Given the description of an element on the screen output the (x, y) to click on. 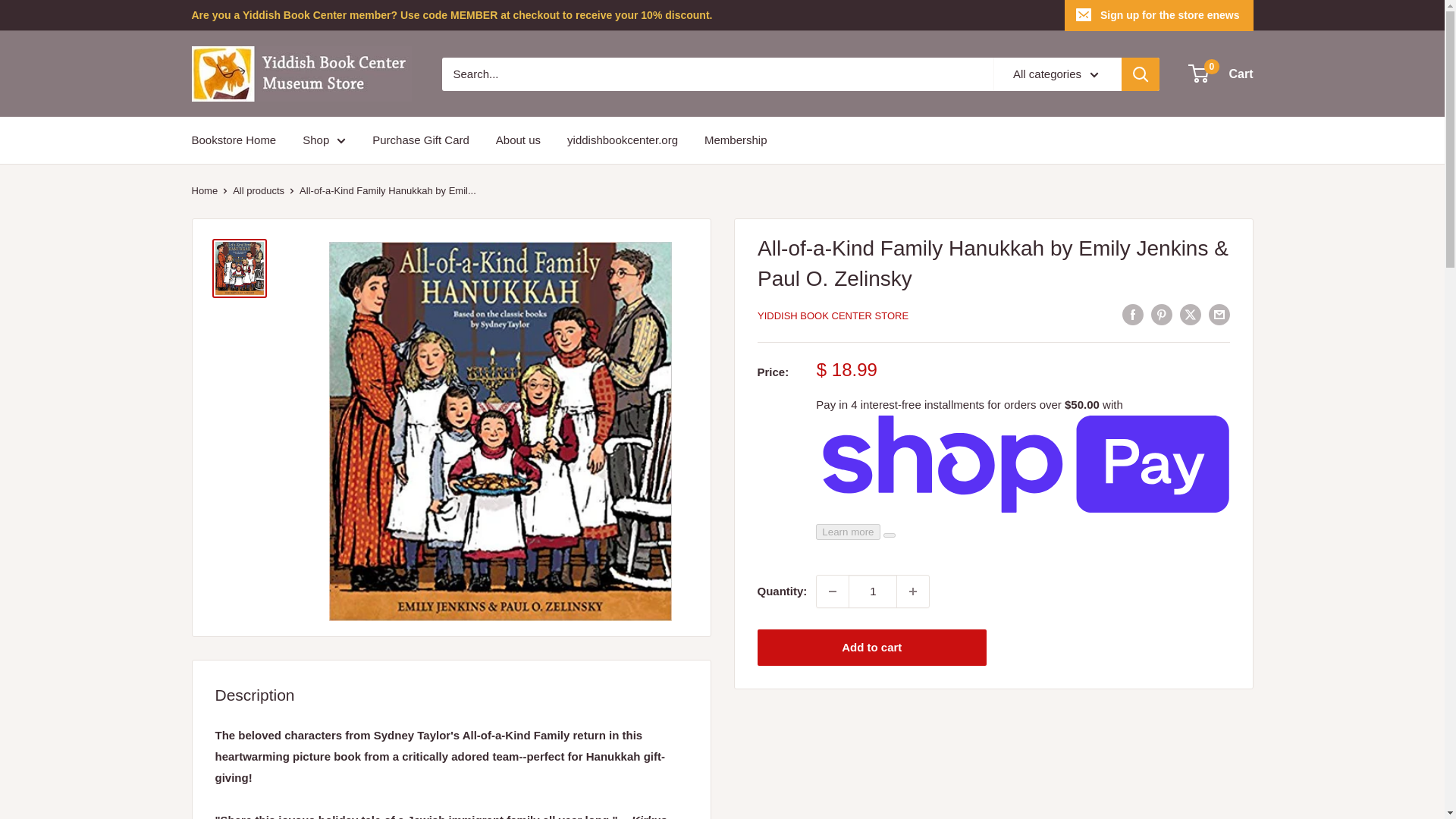
Decrease quantity by 1 (832, 591)
Increase quantity by 1 (912, 591)
1 (872, 591)
Sign up for the store enews (1158, 15)
